Given the description of an element on the screen output the (x, y) to click on. 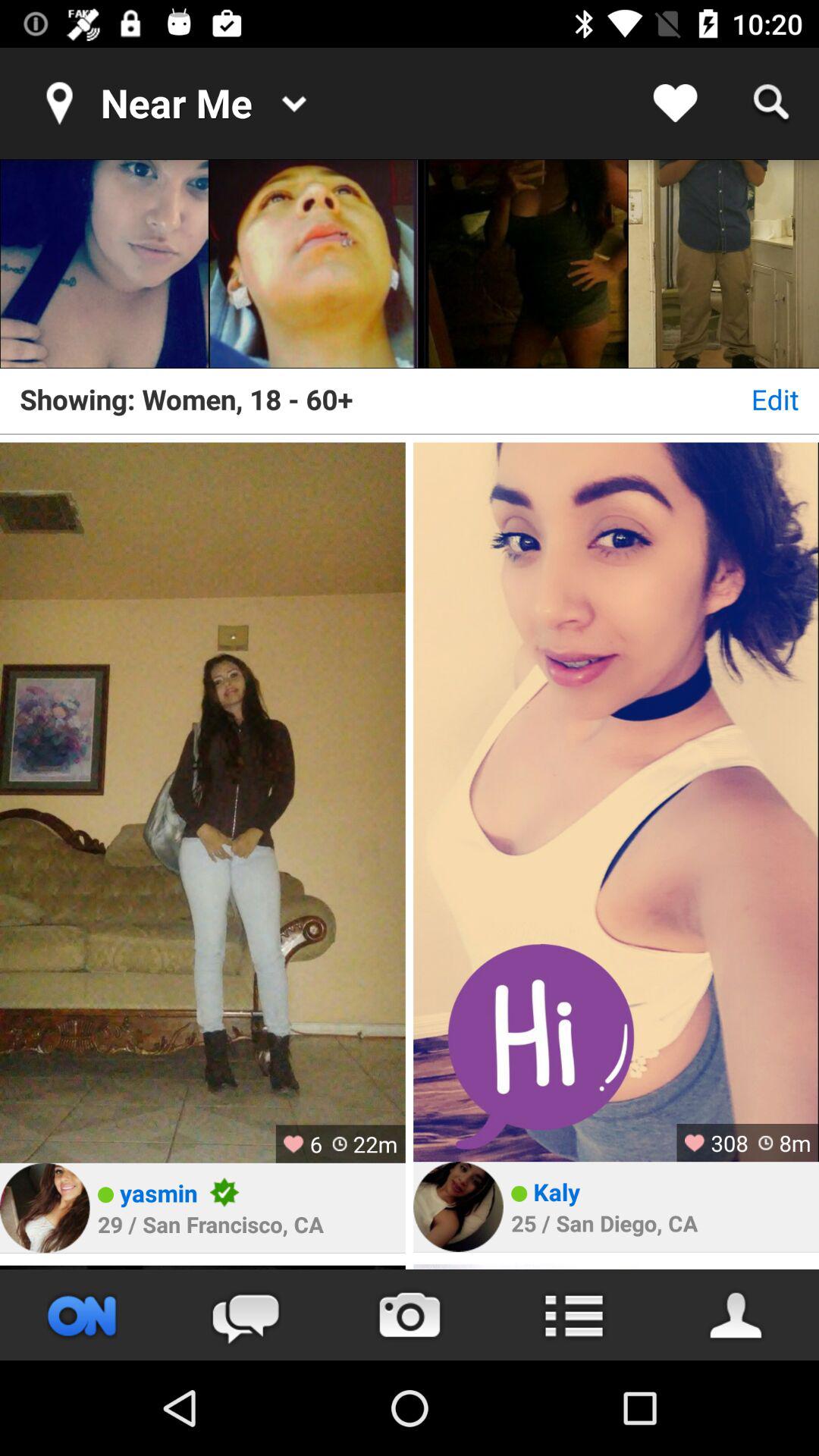
view avatar (458, 1206)
